Given the description of an element on the screen output the (x, y) to click on. 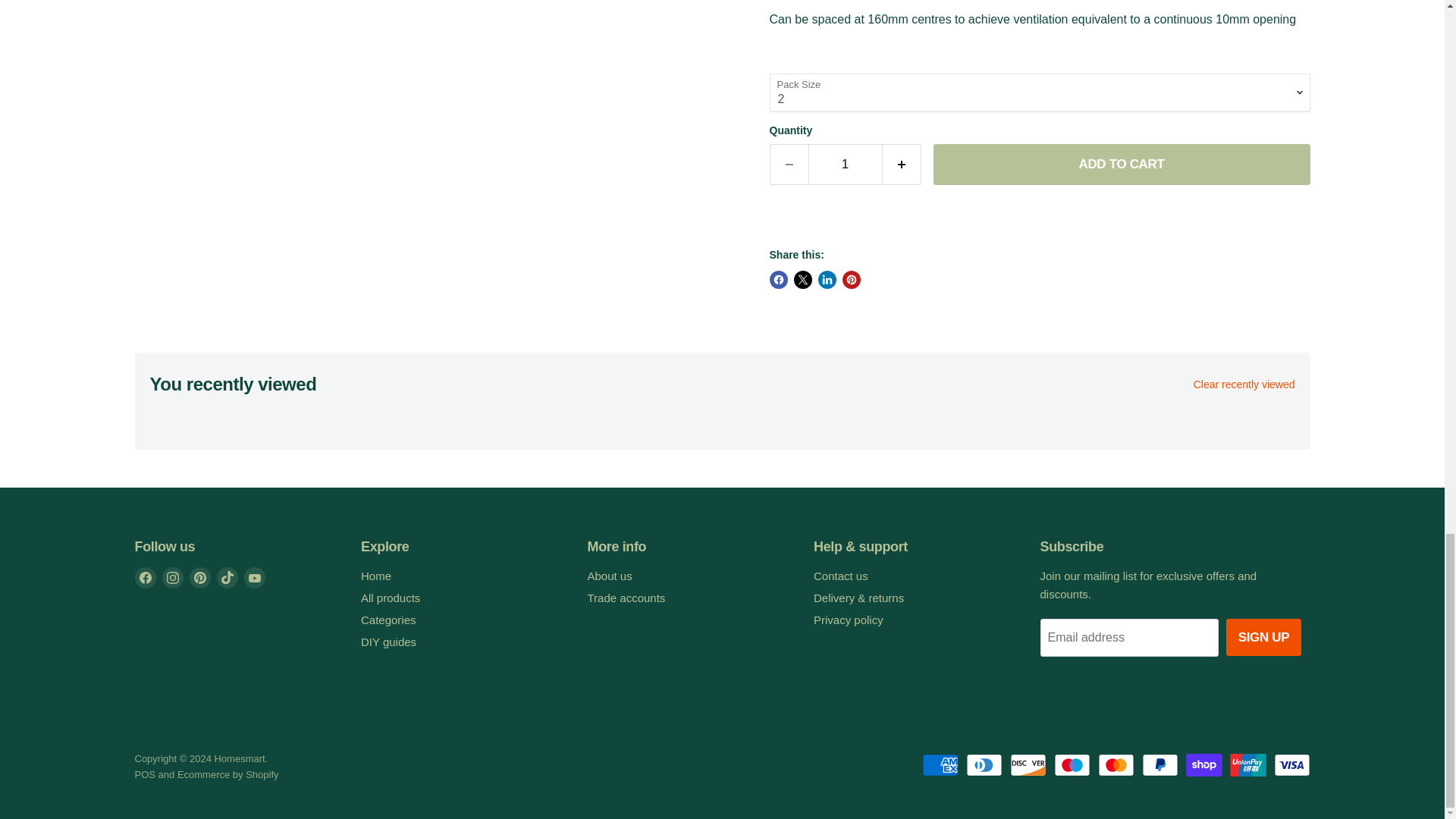
1 (845, 164)
Instagram (172, 577)
Pinterest (200, 577)
Facebook (145, 577)
TikTok (227, 577)
YouTube (254, 577)
